Given the description of an element on the screen output the (x, y) to click on. 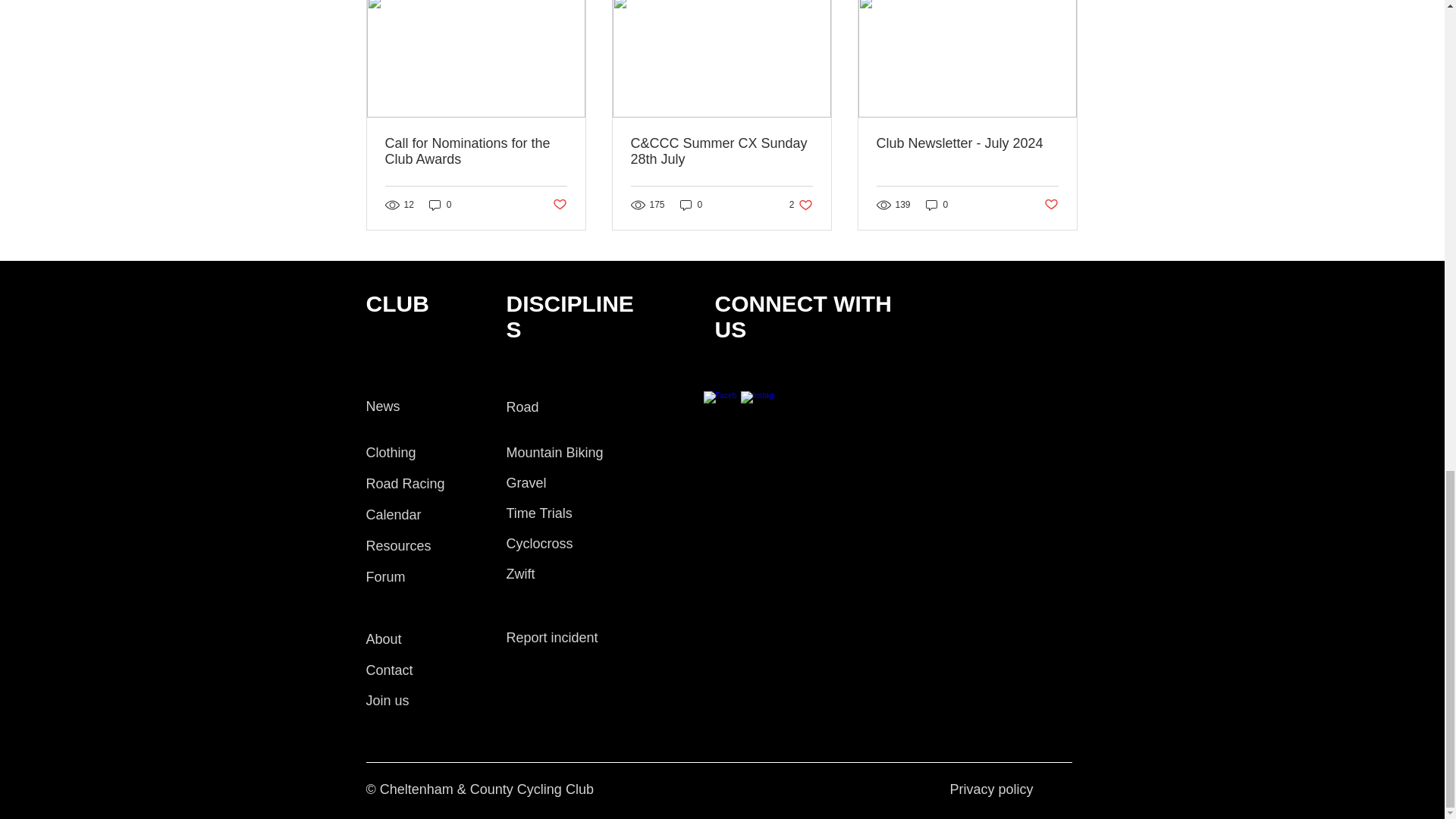
Road Racing (404, 483)
Post not marked as liked (1050, 204)
Calendar (392, 514)
Call for Nominations for the Club Awards (476, 151)
0 (691, 205)
Clothing (389, 452)
Club Newsletter - July 2024 (967, 143)
Resources (800, 205)
0 (397, 545)
News (937, 205)
0 (381, 406)
Post not marked as liked (440, 205)
